Given the description of an element on the screen output the (x, y) to click on. 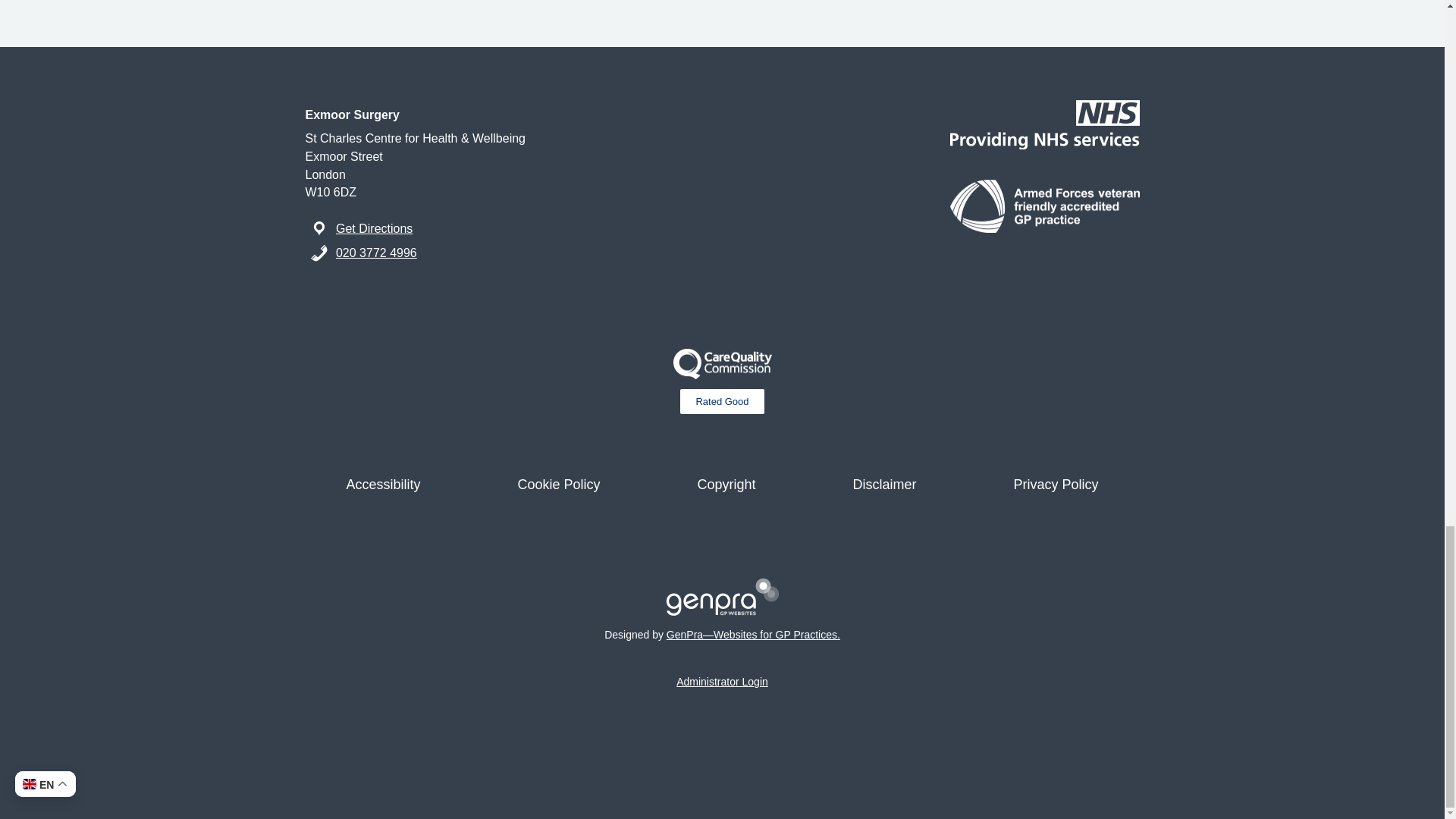
Accessibility (382, 484)
NHS-England-veteran-friendly-accreditation-logo-rev (1043, 206)
Rated Good (720, 401)
Copyright (727, 484)
020 3772 4996 (376, 252)
Get Directions (374, 228)
Disclaimer (885, 484)
Cookie Policy (557, 484)
Privacy Policy (1056, 484)
